Given the description of an element on the screen output the (x, y) to click on. 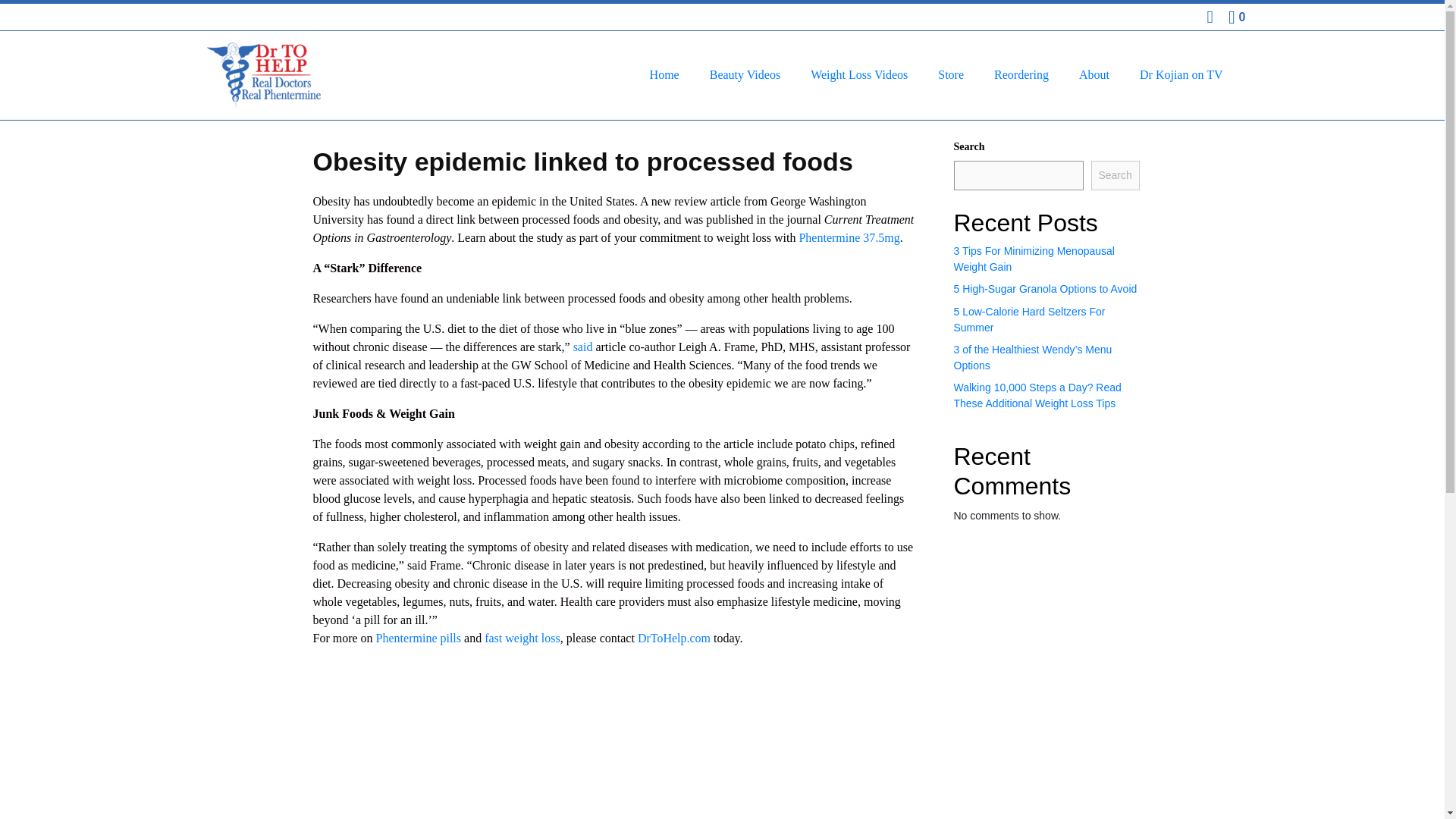
Weight Loss Pills Seattle (1048, 767)
Fast Hialeah Area Weight Loss (810, 767)
San Jose (622, 767)
Hialeah (810, 767)
DrToHelp.com (673, 636)
0 (1236, 17)
Tampa (767, 767)
Home (664, 74)
Phentermine Weight Loss for Tampa Residents (767, 767)
